Given the description of an element on the screen output the (x, y) to click on. 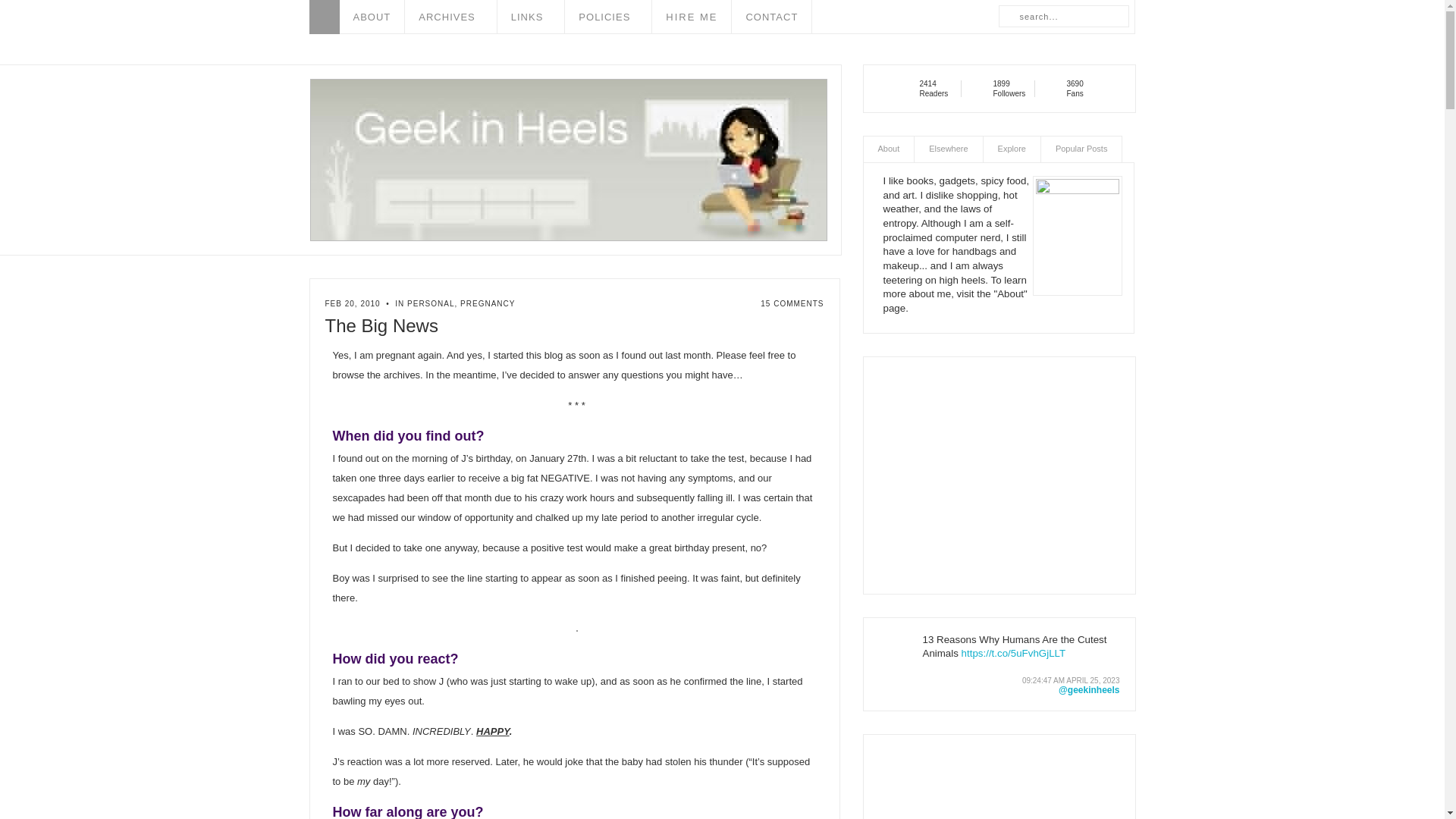
PERSONAL (430, 303)
The Big News (384, 325)
Twitter (982, 88)
Tab 1 (888, 148)
Tab 2 (947, 148)
Tab 3 (1012, 148)
Tab 4 (1081, 148)
RSS (907, 88)
Facebook (1054, 88)
CONTACT (772, 17)
PREGNANCY (487, 303)
ABOUT (372, 17)
HIRE ME (692, 17)
15 COMMENTS (792, 303)
